Given the description of an element on the screen output the (x, y) to click on. 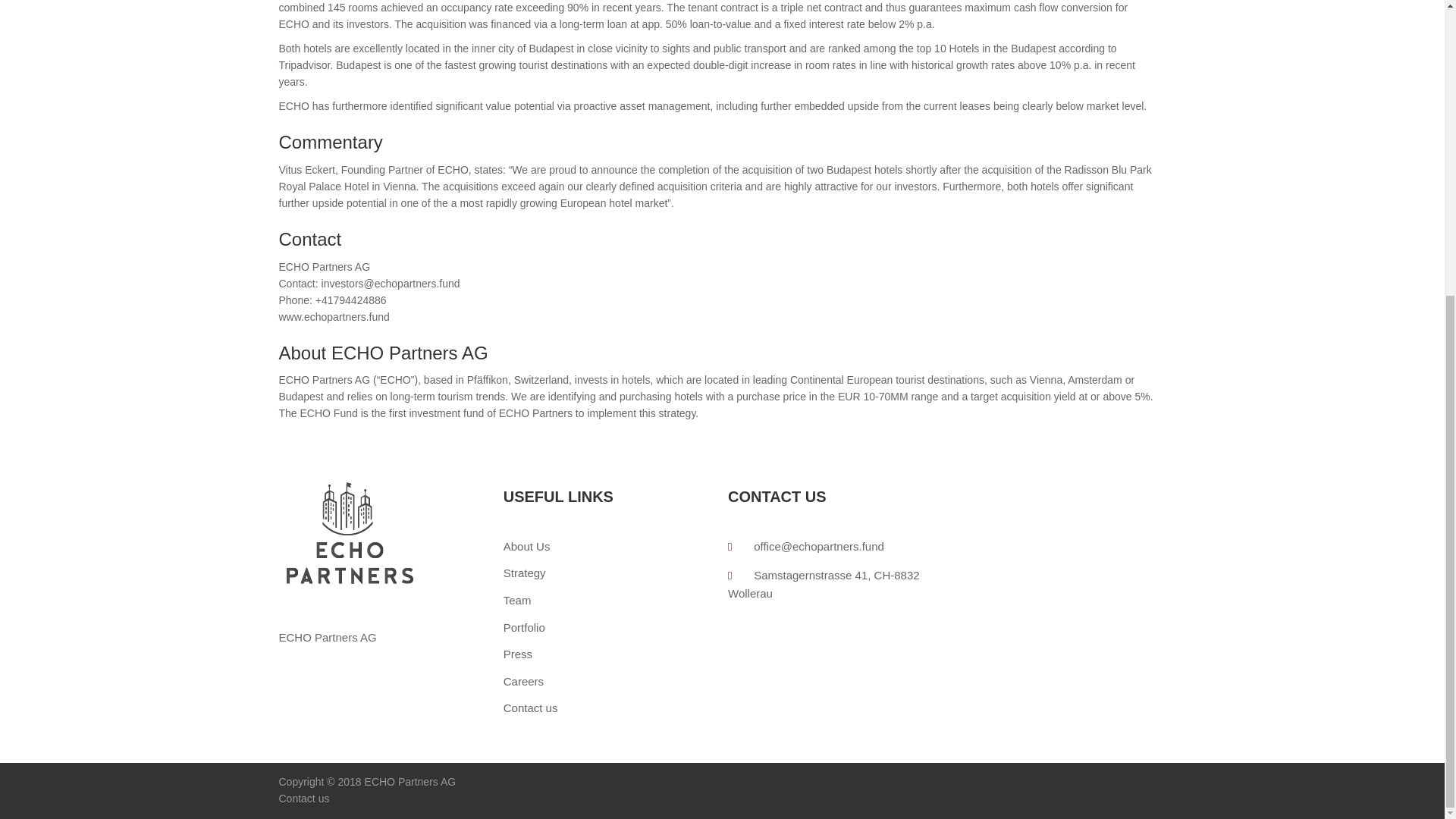
Contact us (304, 798)
Strategy (553, 573)
Careers (553, 681)
Contact us (553, 708)
www.echopartners.fund (334, 316)
Press (553, 654)
Team (553, 600)
About Us (553, 546)
Portfolio (553, 628)
